Given the description of an element on the screen output the (x, y) to click on. 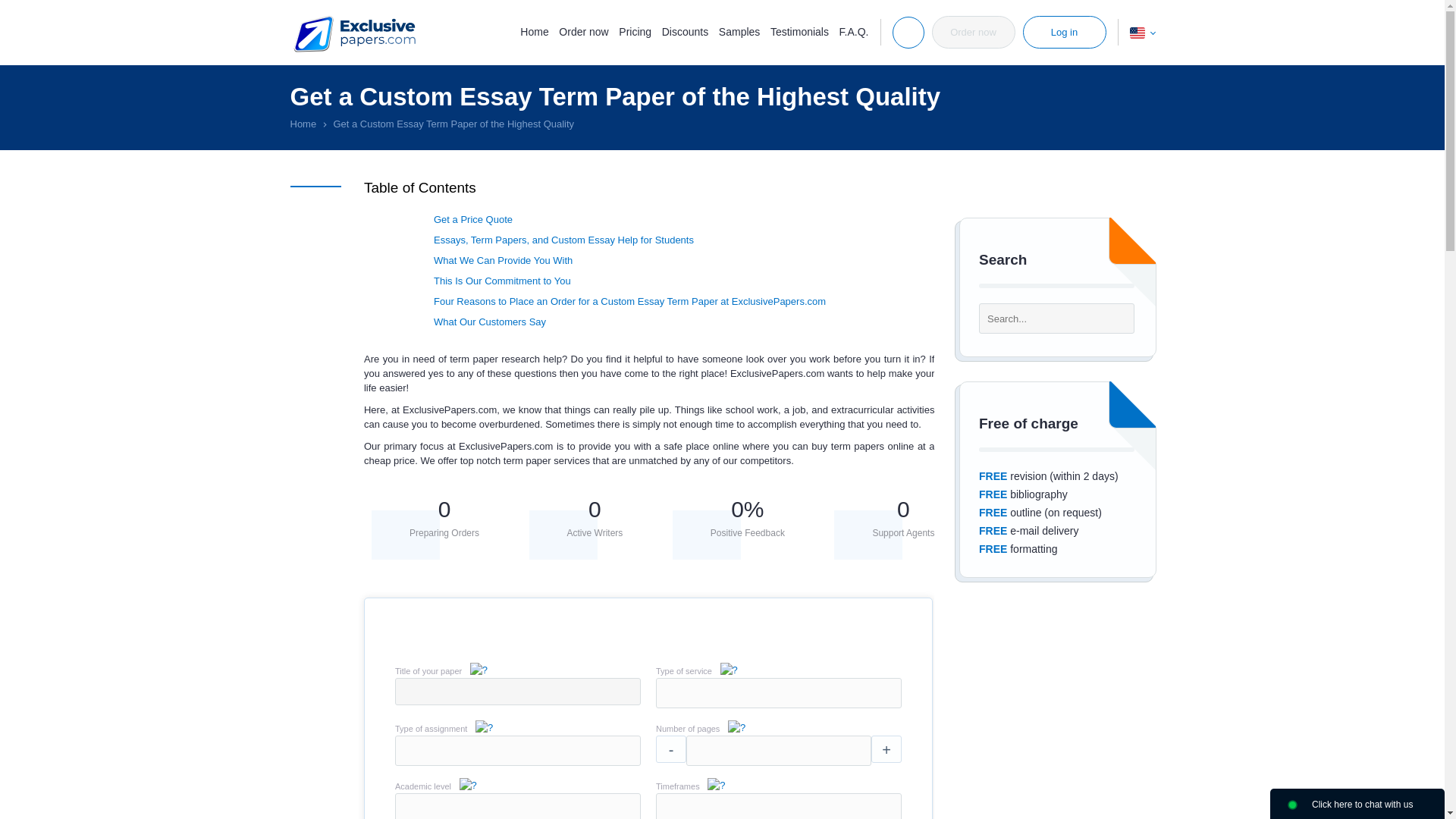
Samples (739, 31)
Testimonials (799, 31)
What We Can Provide You With (502, 260)
Order now (583, 31)
What Our Customers Say (489, 321)
Discounts (684, 31)
Pricing (634, 31)
Home (302, 123)
Order now (972, 31)
Get a Price Quote (472, 219)
This Is Our Commitment to You (501, 280)
F.A.Q. (854, 31)
Essays, Term Papers, and Custom Essay Help for Students (563, 239)
Home (533, 31)
